Given the description of an element on the screen output the (x, y) to click on. 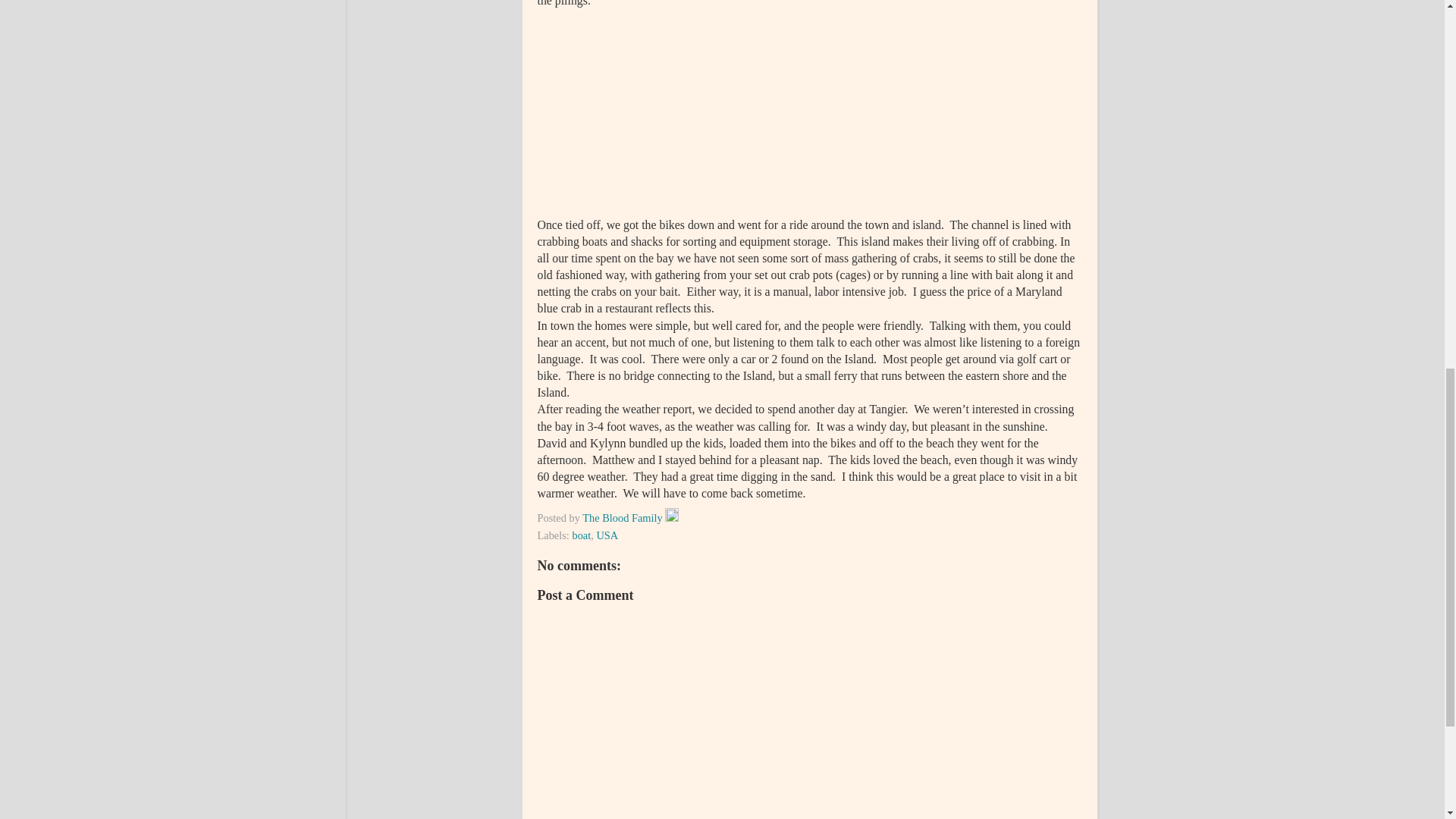
Edit Post (671, 517)
author profile (623, 517)
USA (606, 535)
The Blood Family (623, 517)
boat (581, 535)
